Given the description of an element on the screen output the (x, y) to click on. 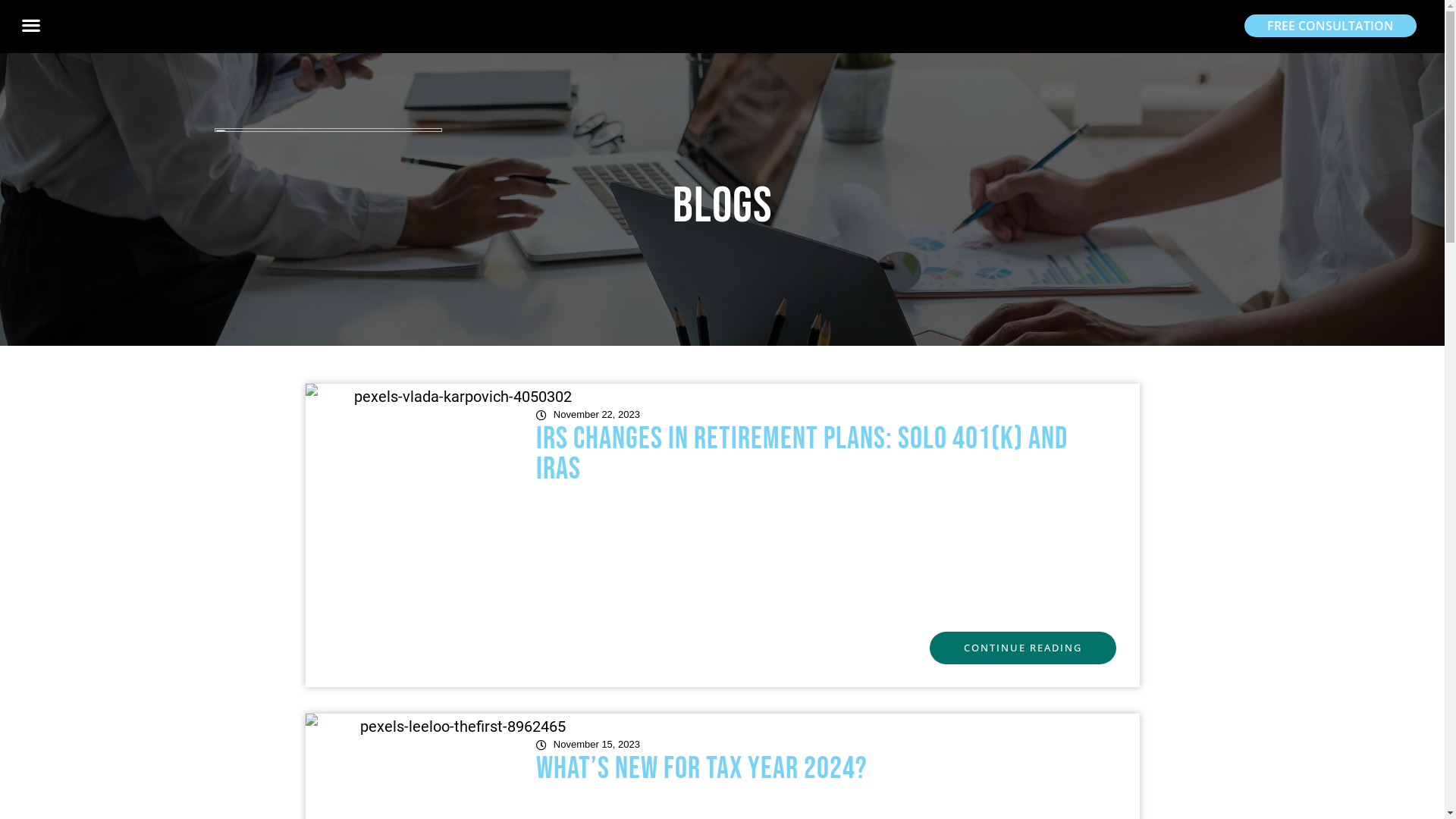
FREE CONSULTATION Element type: text (1330, 25)
IRS Changes in Retirement Plans: Solo 401(k) and IRAs  Element type: text (801, 453)
pexels-vlada-karpovich-4050302 Element type: hover (456, 535)
CONTINUE READING Element type: text (1022, 647)
